Given the description of an element on the screen output the (x, y) to click on. 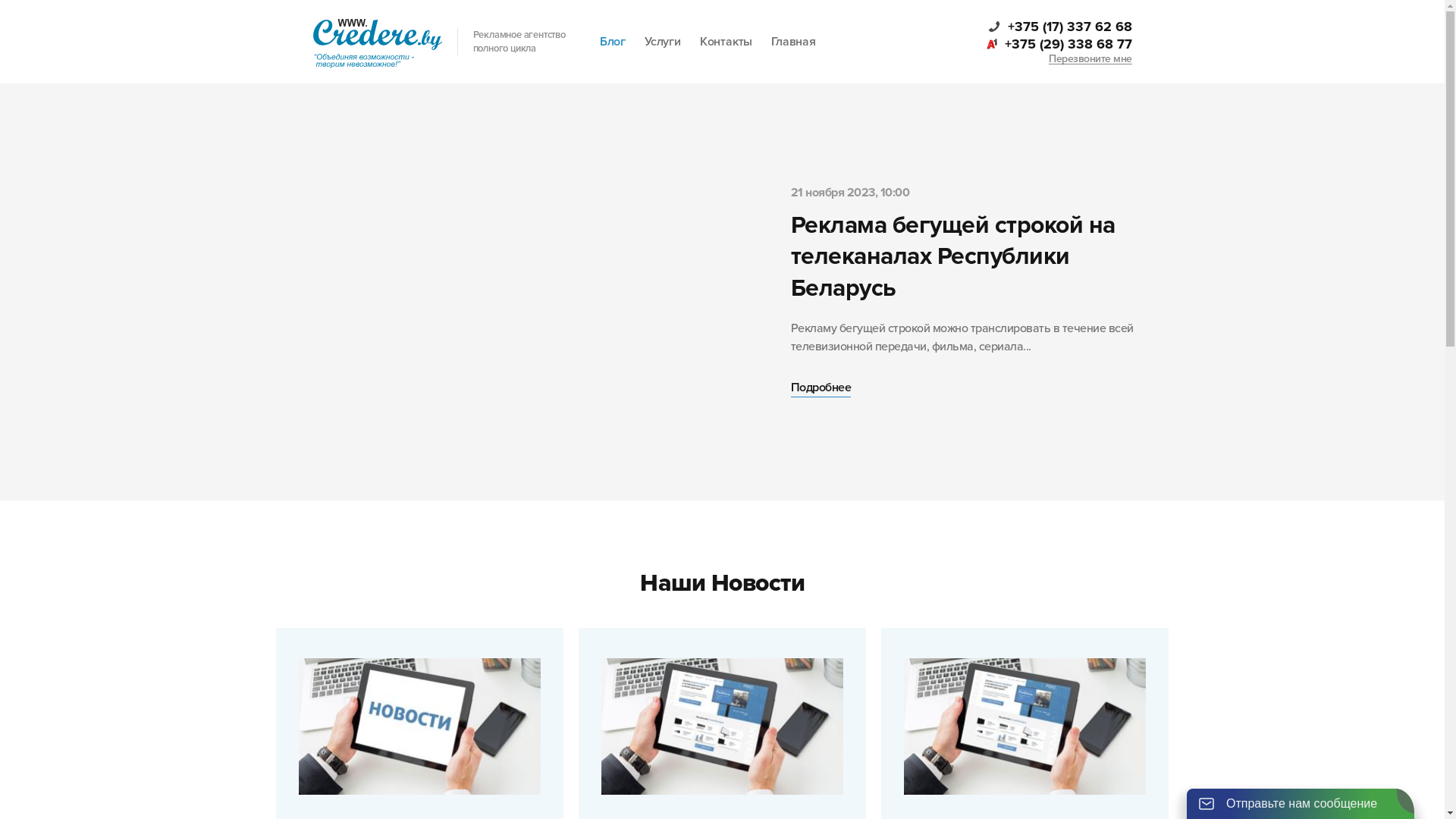
+375 (17) 337 62 68 Element type: text (1059, 26)
+375 (29) 338 68 77 Element type: text (1057, 43)
